Given the description of an element on the screen output the (x, y) to click on. 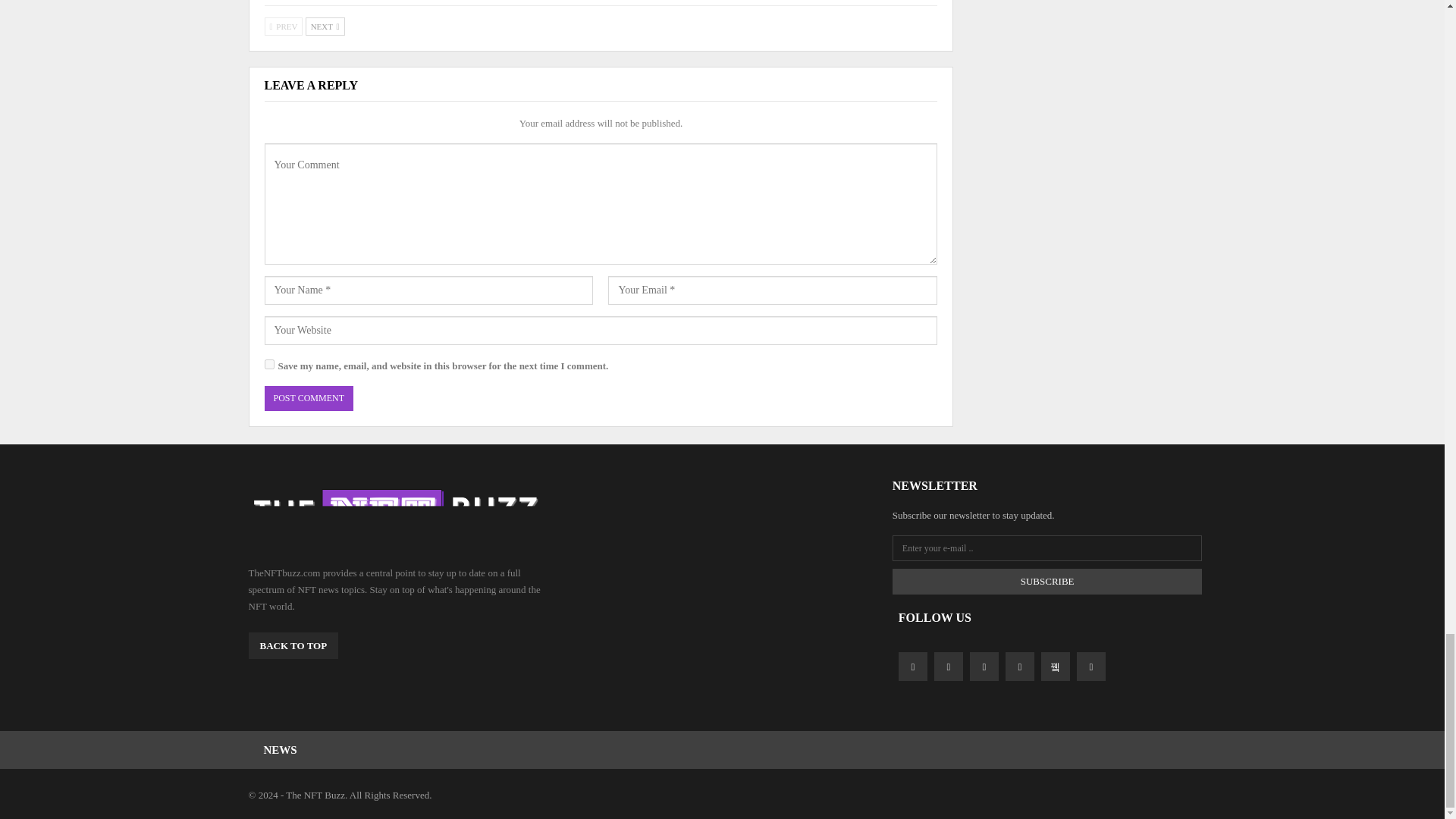
yes (268, 364)
Post Comment (307, 398)
